Given the description of an element on the screen output the (x, y) to click on. 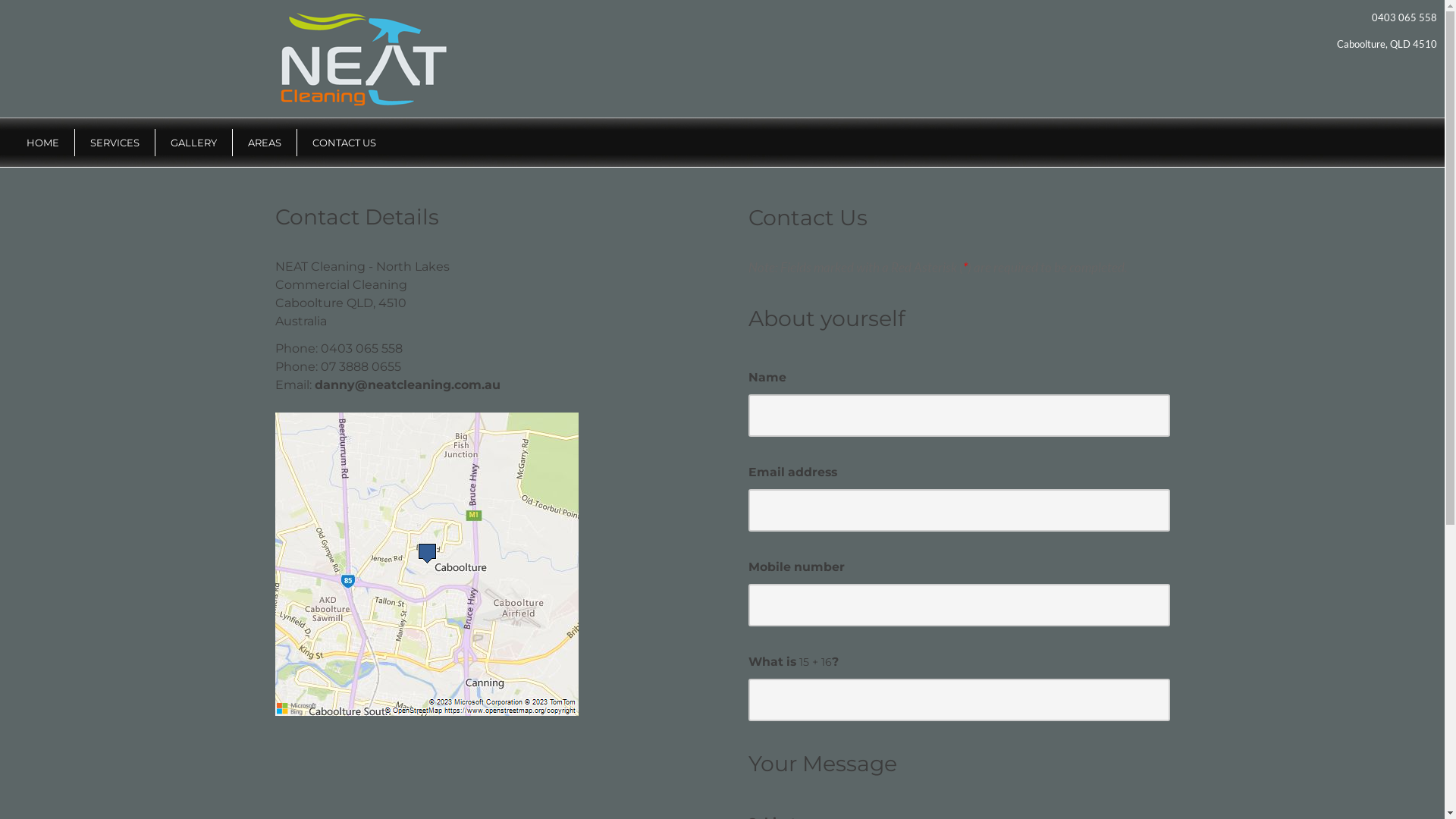
CONTACT US Element type: text (344, 142)
danny@neatcleaning.com.au Element type: text (406, 384)
GALLERY Element type: text (193, 142)
AREAS Element type: text (264, 142)
0403 065 558 Element type: text (1404, 17)
HOME Element type: text (42, 142)
SERVICES Element type: text (114, 142)
